Given the description of an element on the screen output the (x, y) to click on. 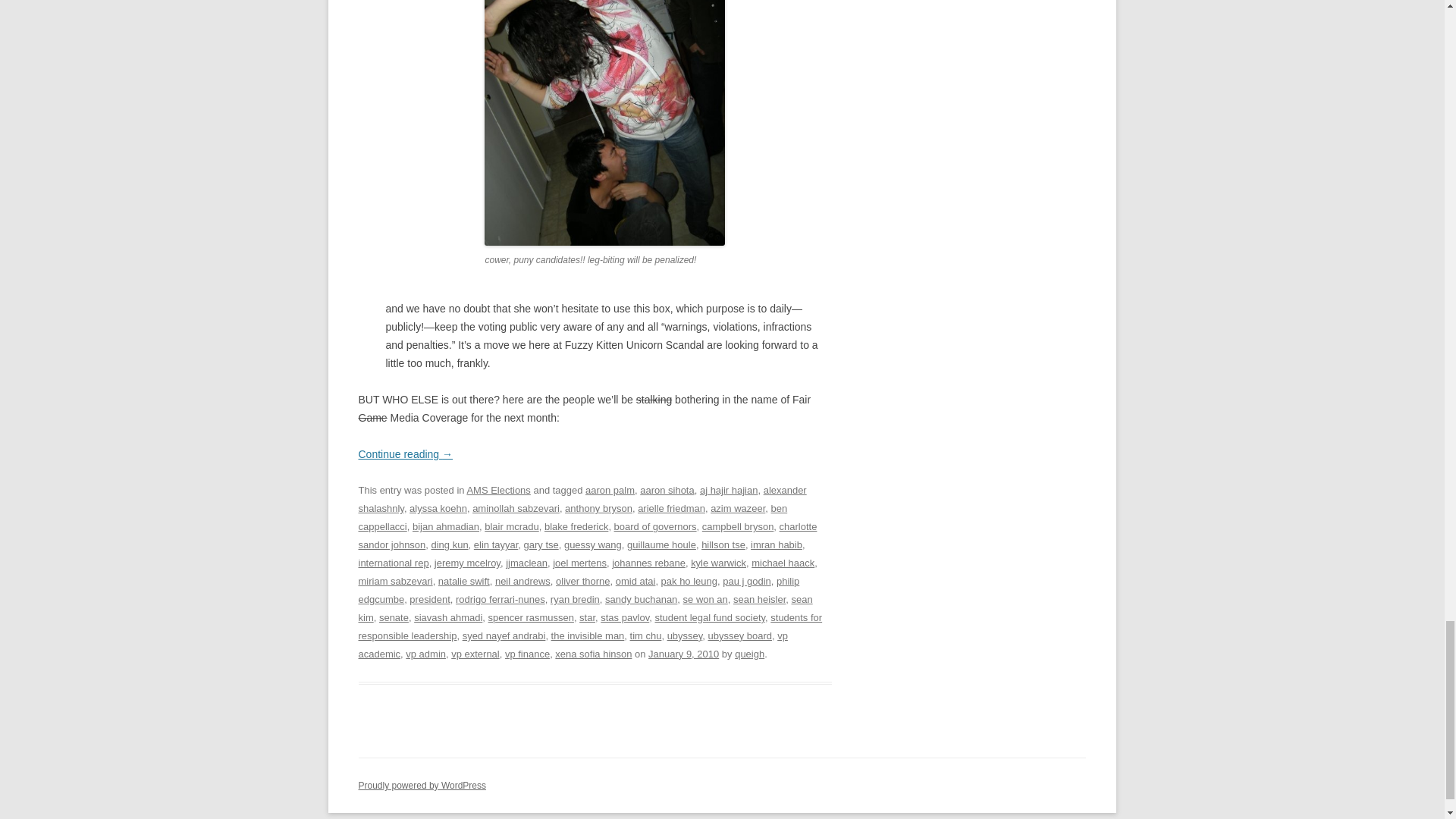
AMS Elections (497, 490)
aminollah sabzevari (515, 508)
alexander shalashnly (582, 499)
board of governors (655, 526)
aaron palm (609, 490)
bijan ahmadian (445, 526)
anthony bryson (597, 508)
aaron sihota (667, 490)
5:32 pm (683, 654)
aj hajir hajian (729, 490)
Semantic Personal Publishing Platform (422, 785)
alyssa koehn (438, 508)
azim wazeer (737, 508)
View all posts by queigh (749, 654)
campbell bryson (737, 526)
